Given the description of an element on the screen output the (x, y) to click on. 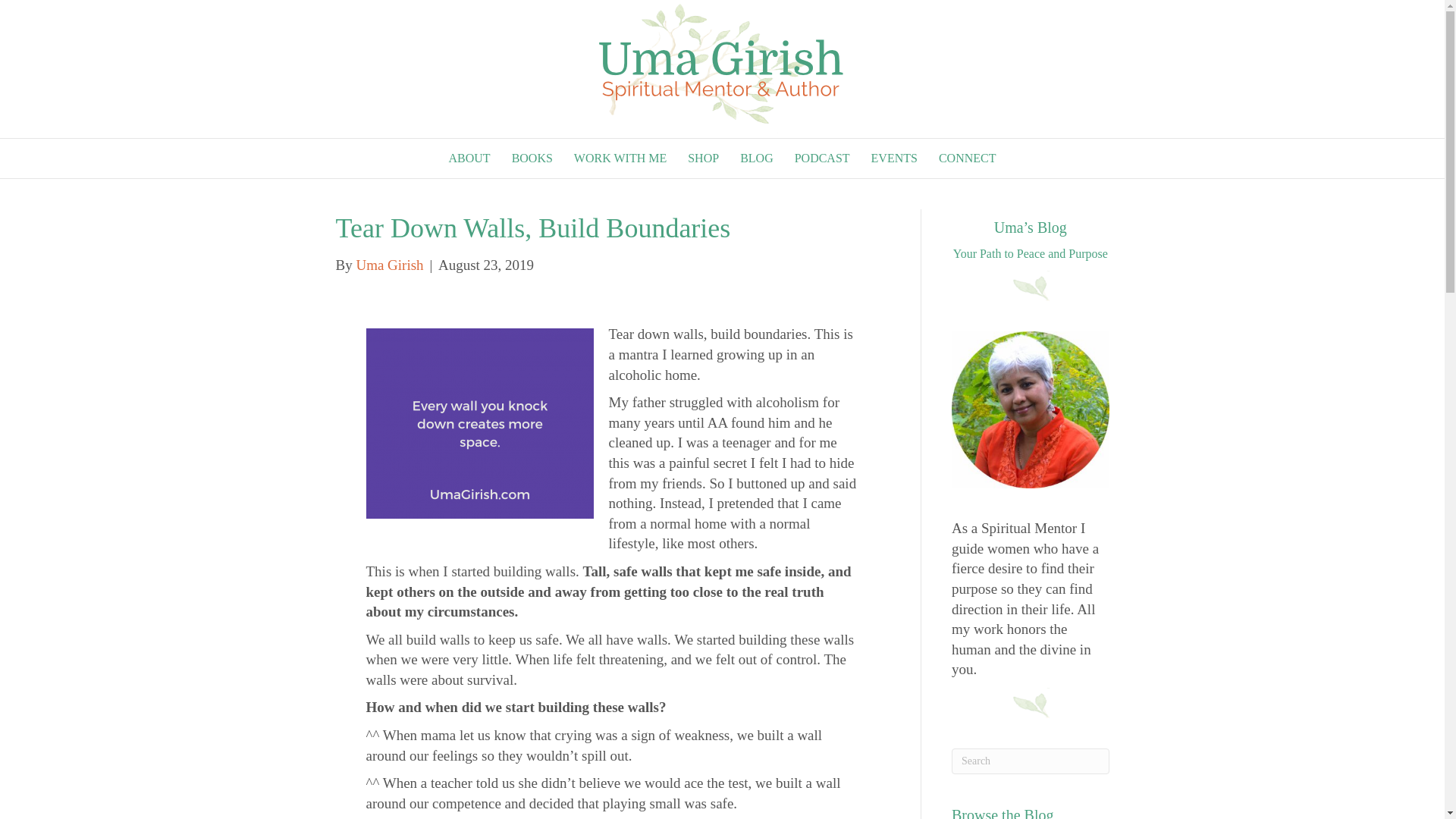
EVENTS (894, 158)
ABOUT (469, 158)
Type and press Enter to search. (1030, 760)
WORK WITH ME (620, 158)
BLOG (756, 158)
SHOP (703, 158)
BOOKS (531, 158)
PODCAST (822, 158)
CONNECT (967, 158)
Uma Girish (389, 264)
